Given the description of an element on the screen output the (x, y) to click on. 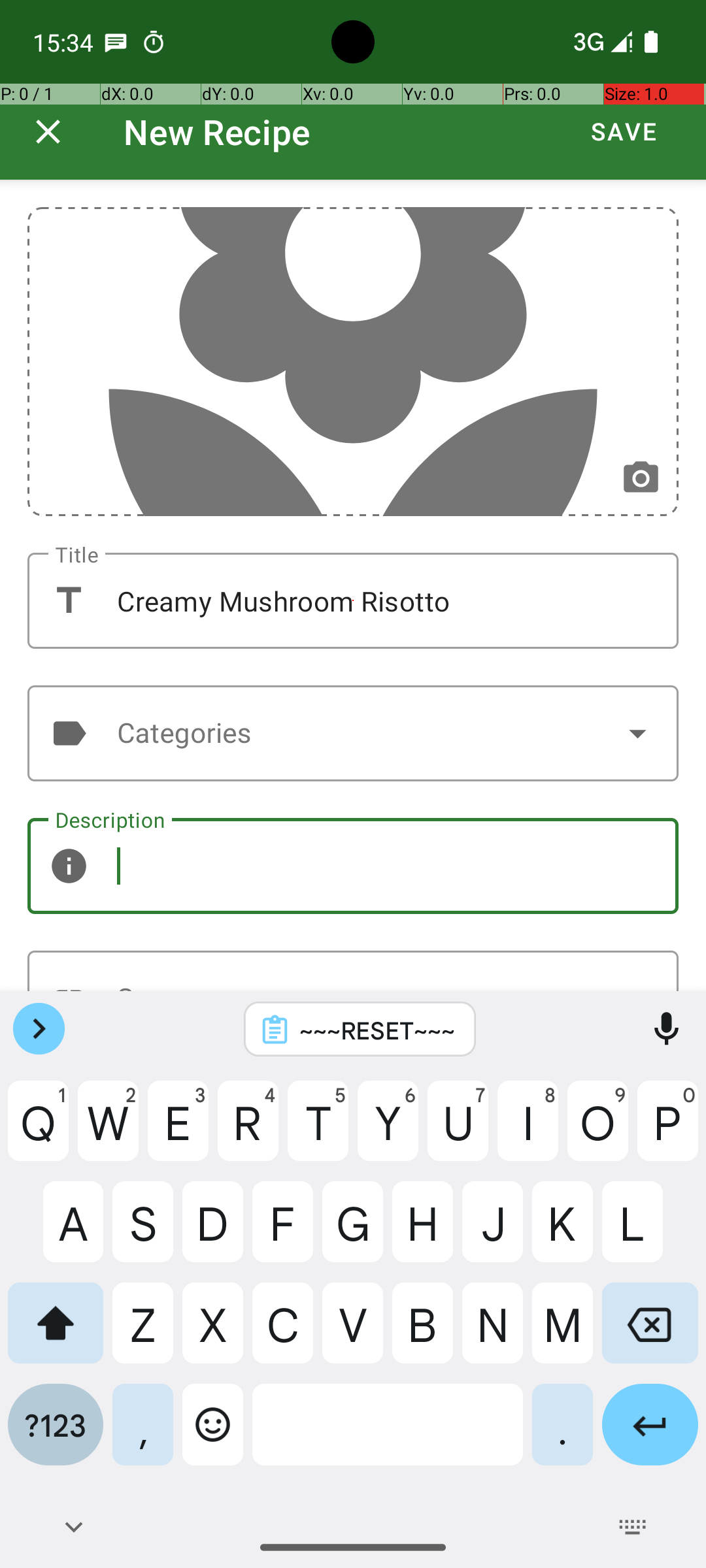
Creamy Mushroom Risotto Element type: android.widget.EditText (352, 600)
